Given the description of an element on the screen output the (x, y) to click on. 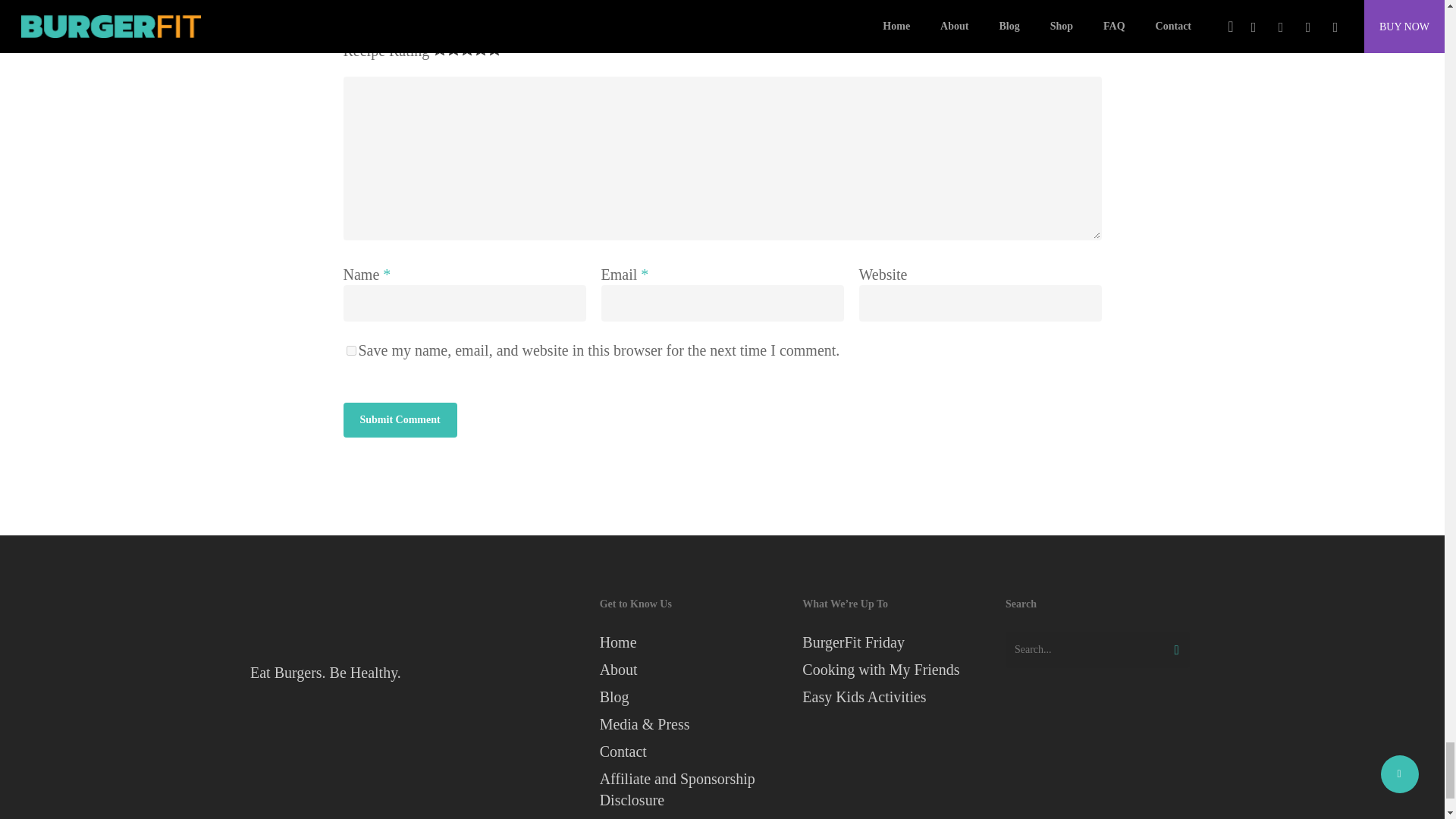
Search for: (1097, 649)
Submit Comment (399, 419)
yes (350, 350)
